Given the description of an element on the screen output the (x, y) to click on. 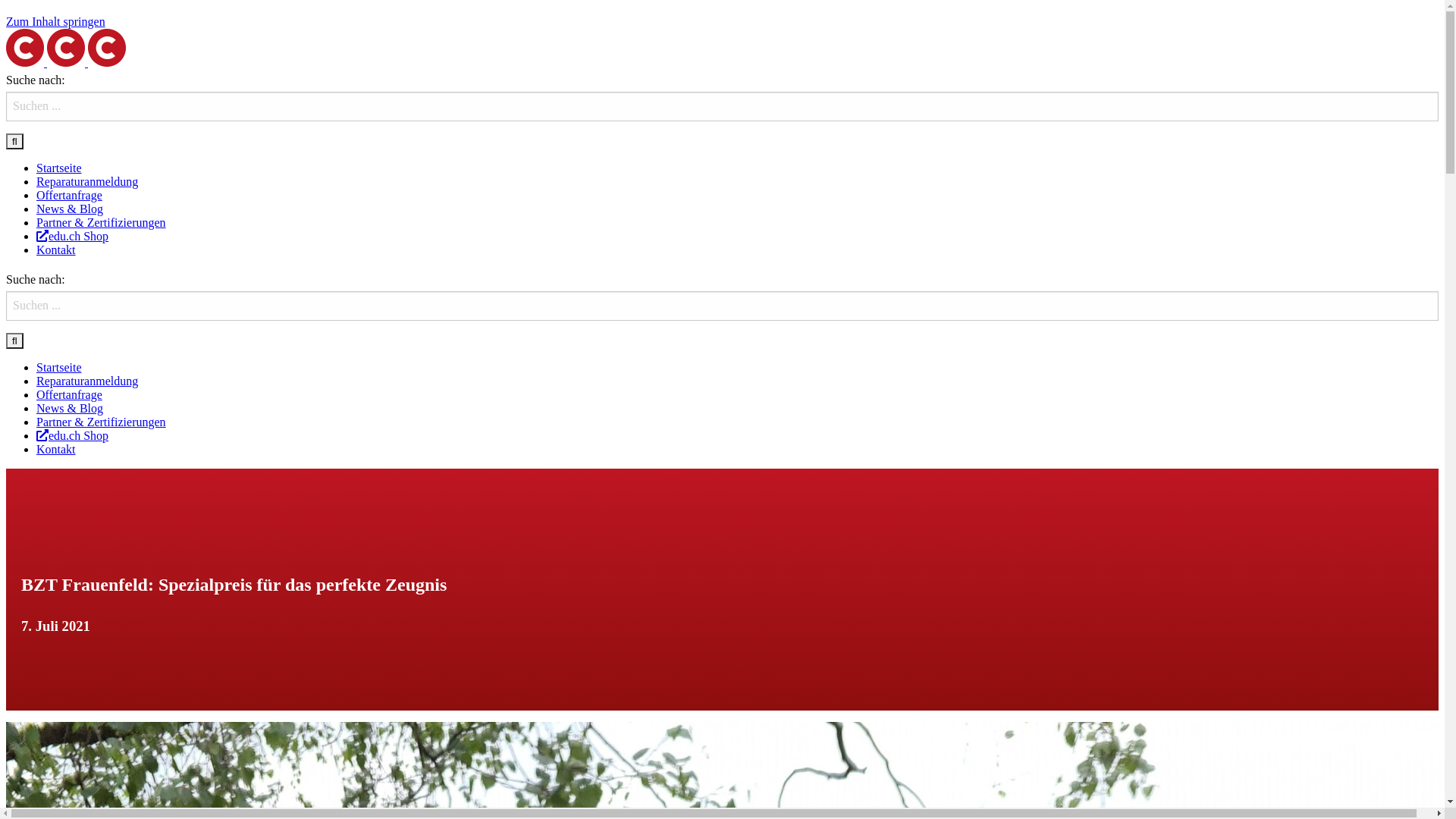
Startseite Element type: text (58, 366)
Reparaturanmeldung Element type: text (87, 380)
edu.ch Shop Element type: text (72, 435)
Offertanfrage Element type: text (69, 194)
Startseite Element type: text (58, 167)
Partner & Zertifizierungen Element type: text (101, 222)
Kontakt Element type: text (55, 249)
Kontakt Element type: text (55, 448)
Reparaturanmeldung Element type: text (87, 181)
edu.ch Shop Element type: text (72, 235)
Zum Inhalt springen Element type: text (55, 21)
Partner & Zertifizierungen Element type: text (101, 421)
News & Blog Element type: text (69, 208)
Offertanfrage Element type: text (69, 394)
News & Blog Element type: text (69, 407)
